Given the description of an element on the screen output the (x, y) to click on. 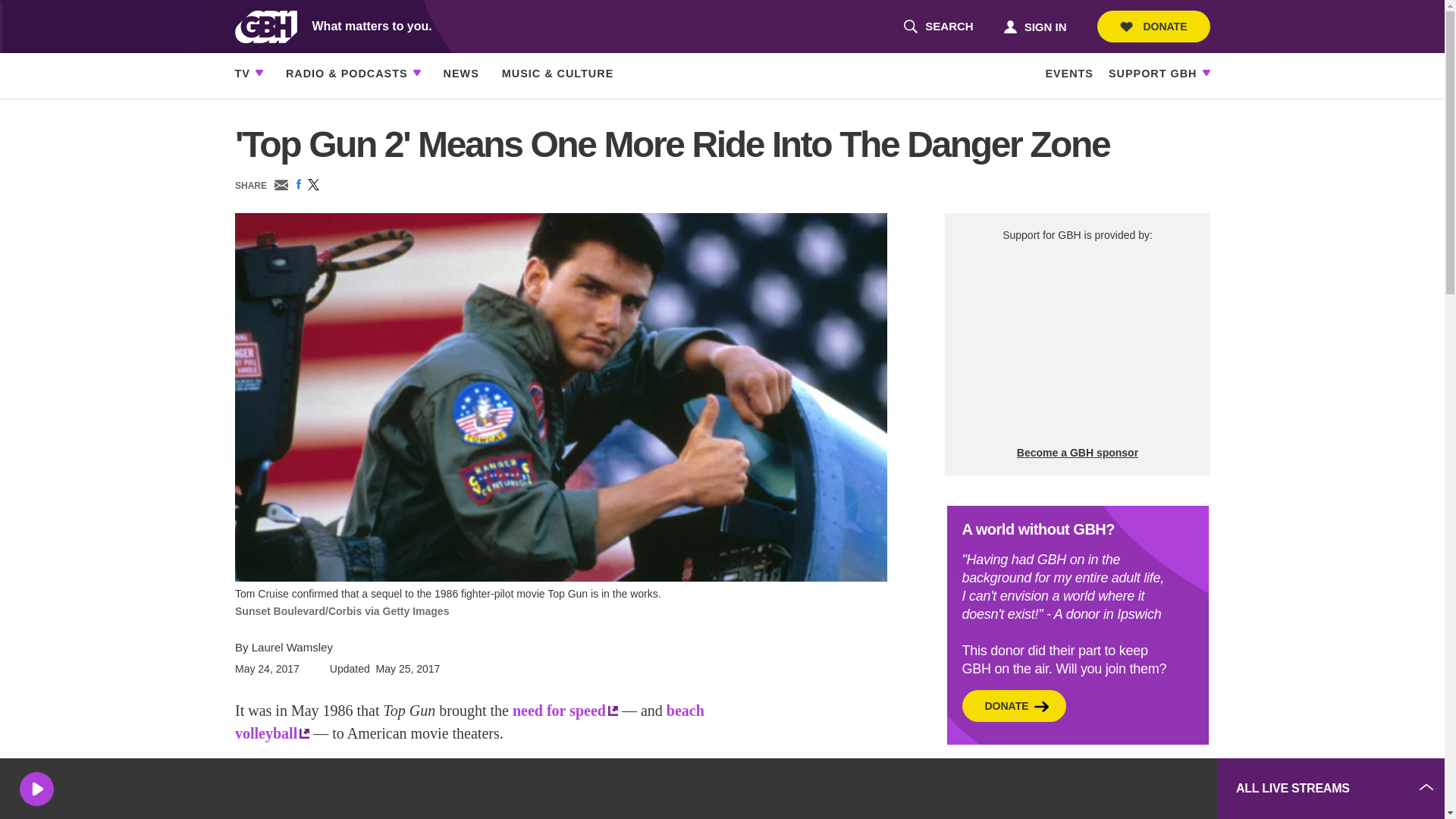
SIGN IN (1034, 25)
3rd party ad content (937, 26)
3rd party ad content (1076, 343)
DONATE (1091, 788)
